Given the description of an element on the screen output the (x, y) to click on. 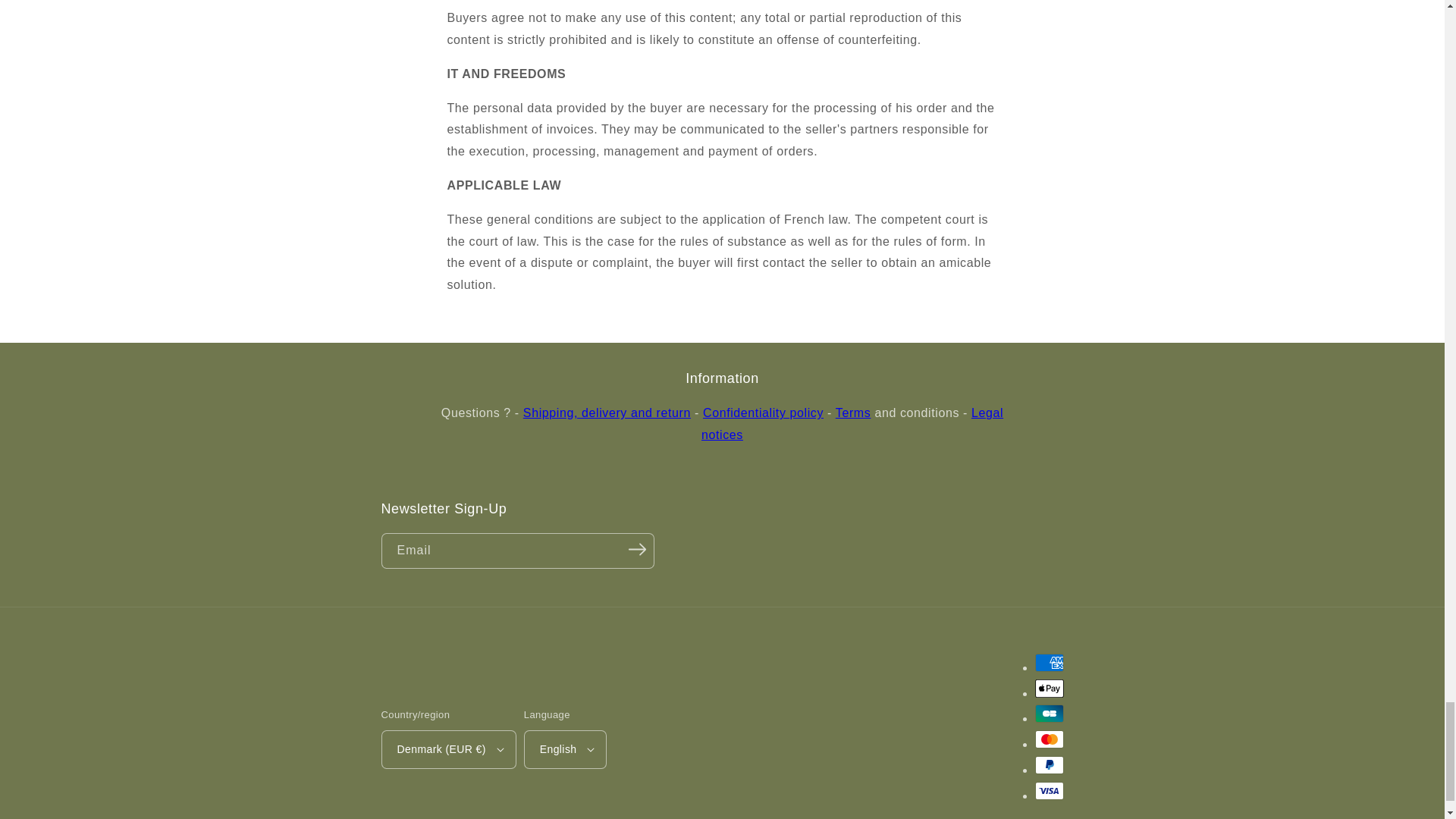
Apple Pay (1047, 688)
Cartes Bancaires (1047, 713)
Legal Notice (852, 423)
American Express (1047, 662)
GTC (852, 412)
Privacy Policy (763, 412)
PayPal (1047, 764)
Mastercard (1047, 739)
Shipping, delivery and return (606, 412)
Visa (1047, 791)
